Given the description of an element on the screen output the (x, y) to click on. 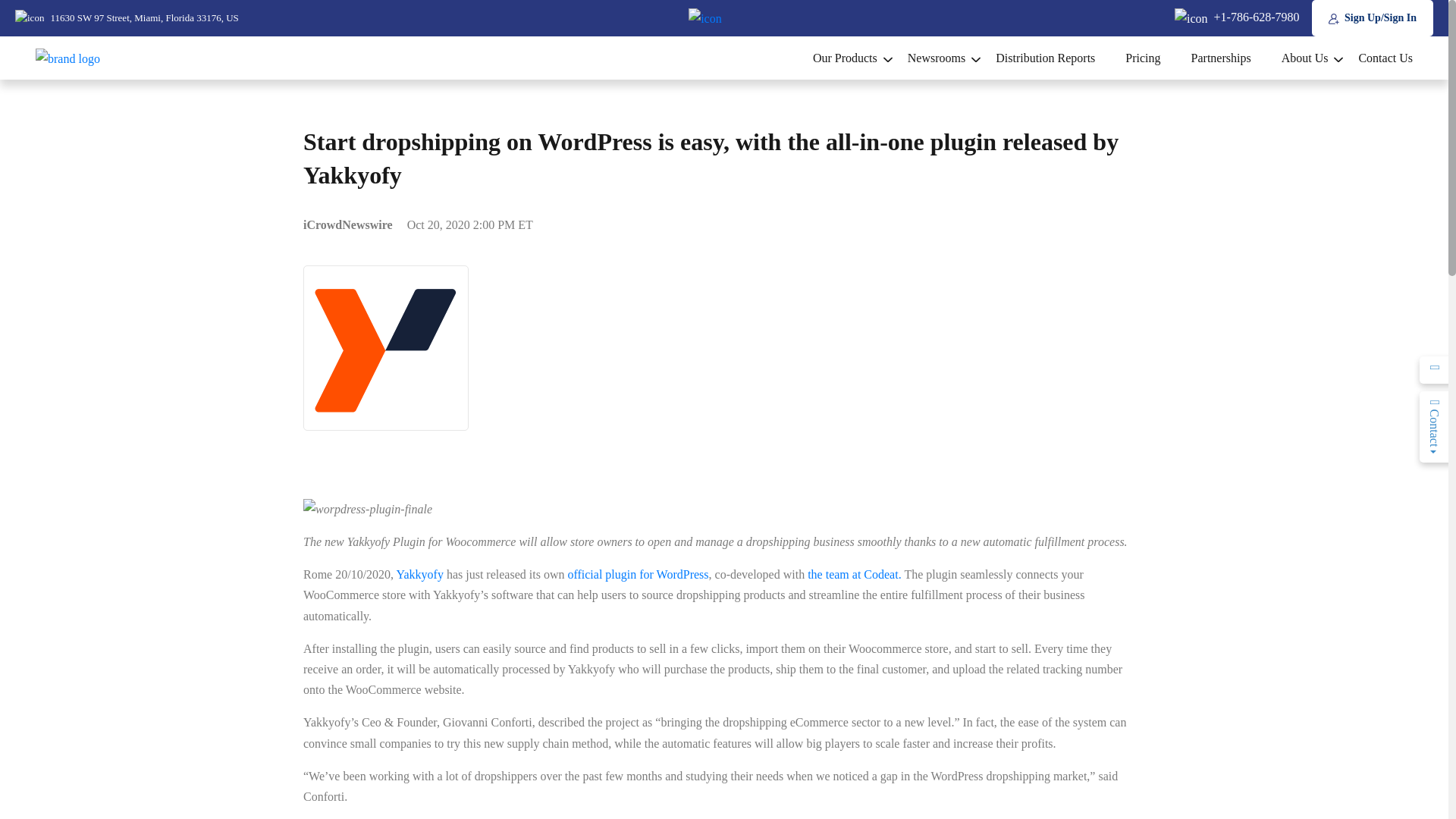
Newsrooms (935, 58)
Pricing (1141, 58)
Partnerships (1221, 58)
Contact Us (1377, 58)
Distribution Reports (1044, 58)
Our Products (844, 58)
About Us (1304, 58)
